Given the description of an element on the screen output the (x, y) to click on. 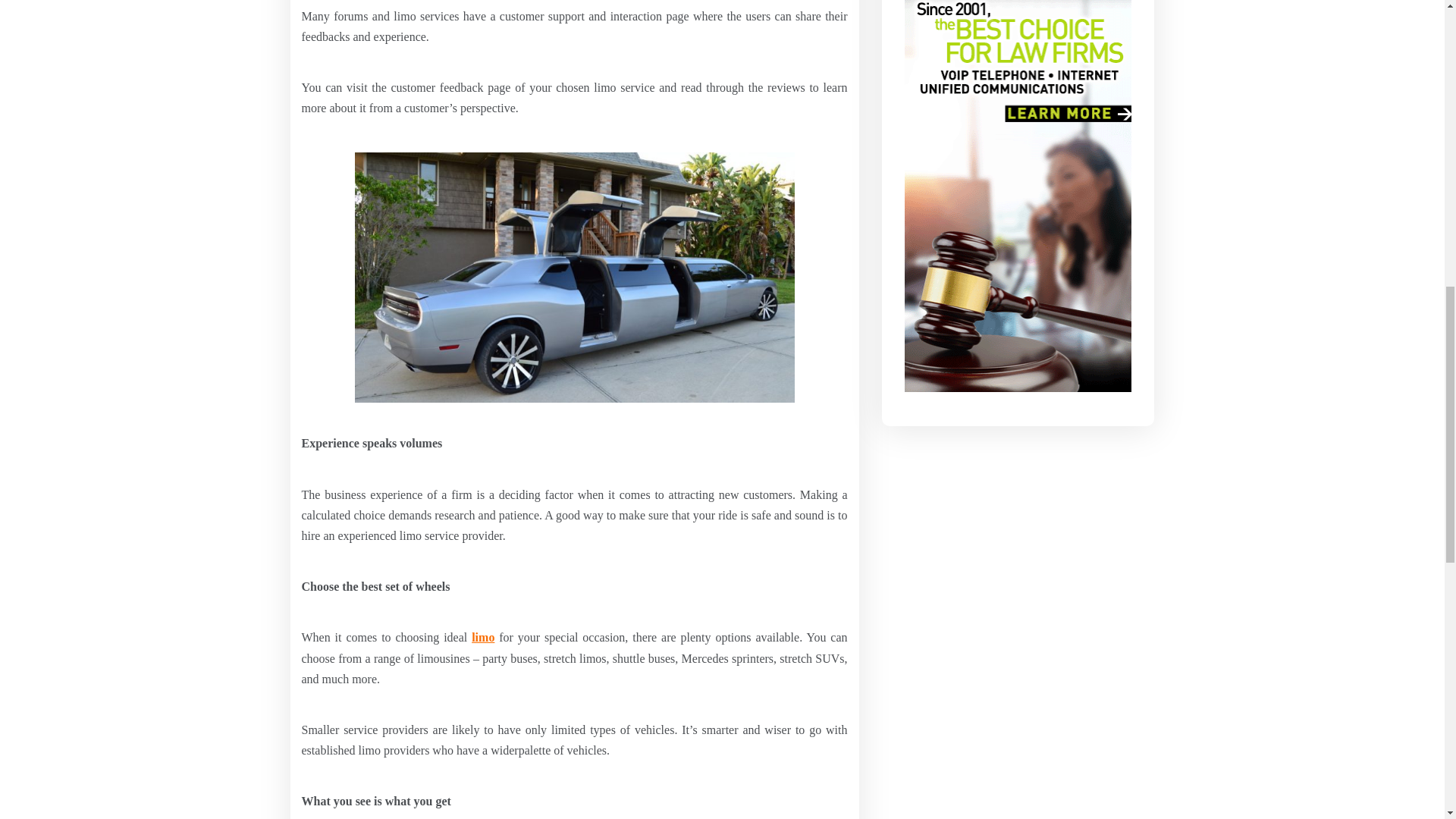
limo (483, 636)
